Given the description of an element on the screen output the (x, y) to click on. 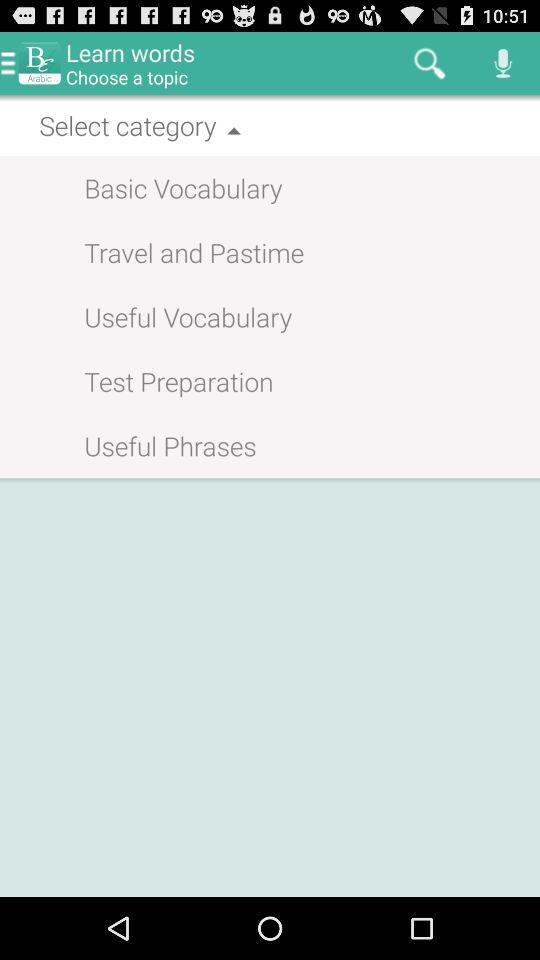
click on the mike icon shown next to search icon at the top right corner (503, 63)
